Given the description of an element on the screen output the (x, y) to click on. 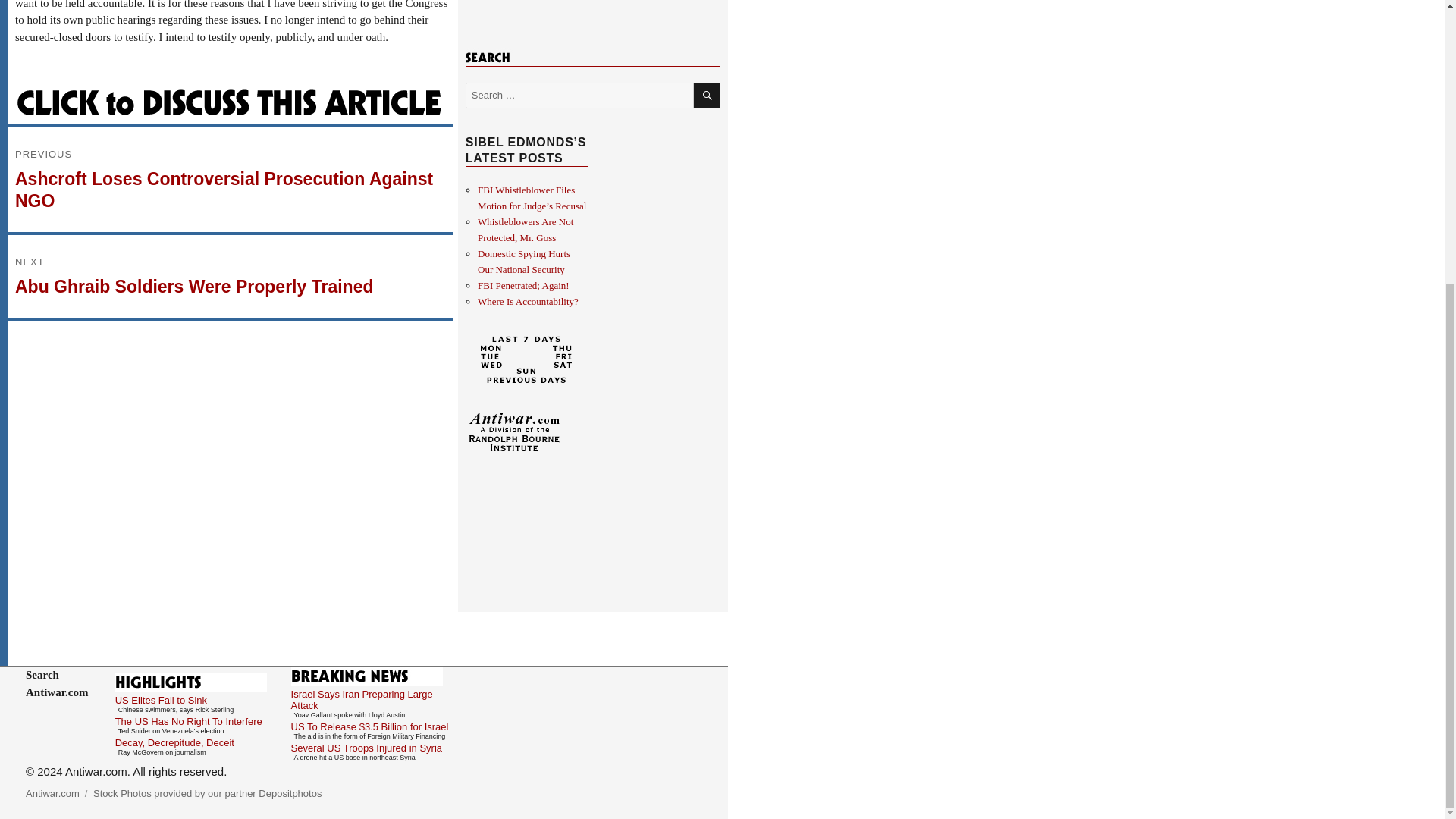
3rd party ad content (592, 3)
